Given the description of an element on the screen output the (x, y) to click on. 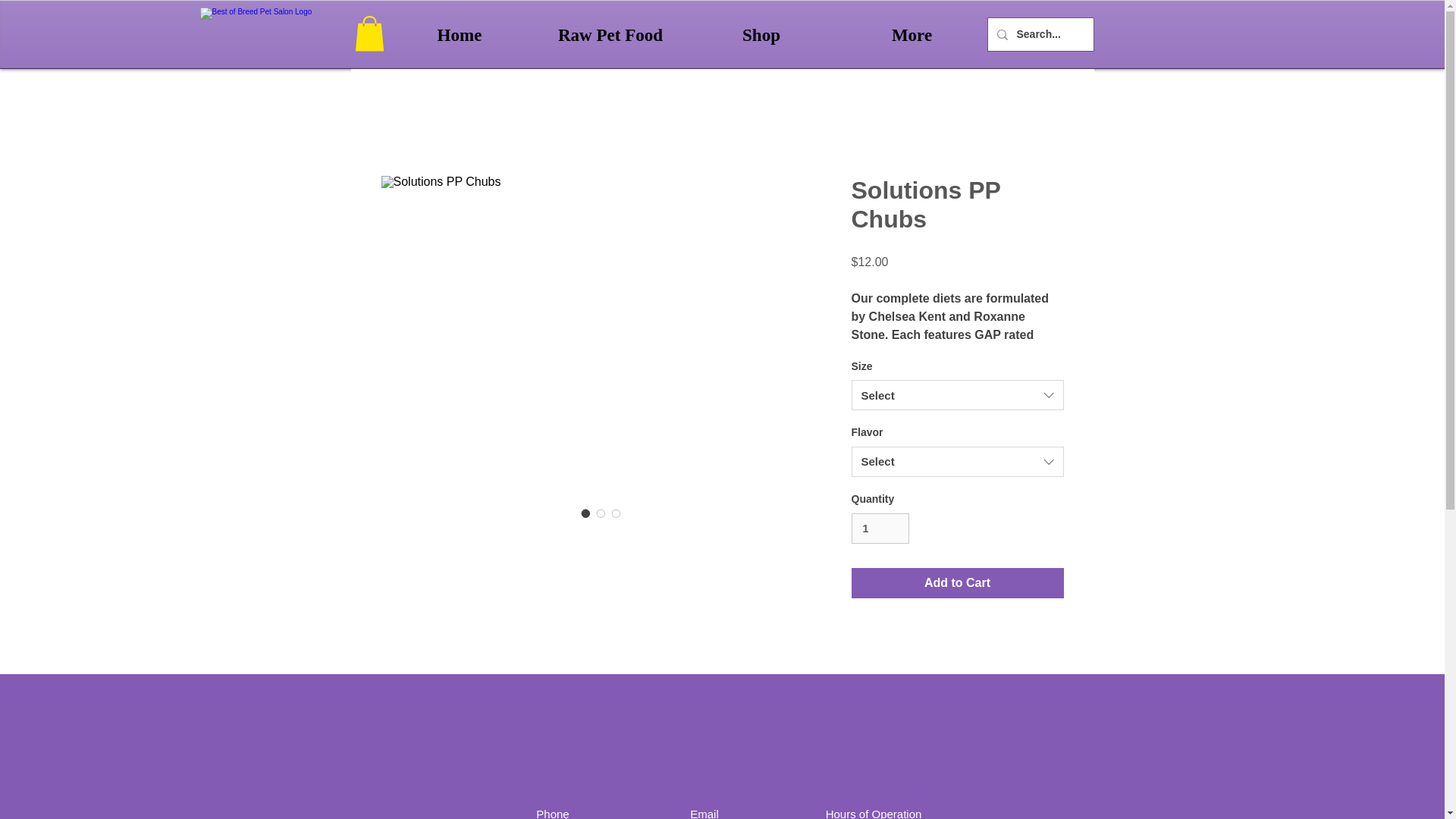
Select (956, 461)
1 (879, 528)
Raw Pet Food (610, 35)
Home (459, 35)
Add to Cart (956, 583)
Select (956, 395)
Shop (760, 35)
